Given the description of an element on the screen output the (x, y) to click on. 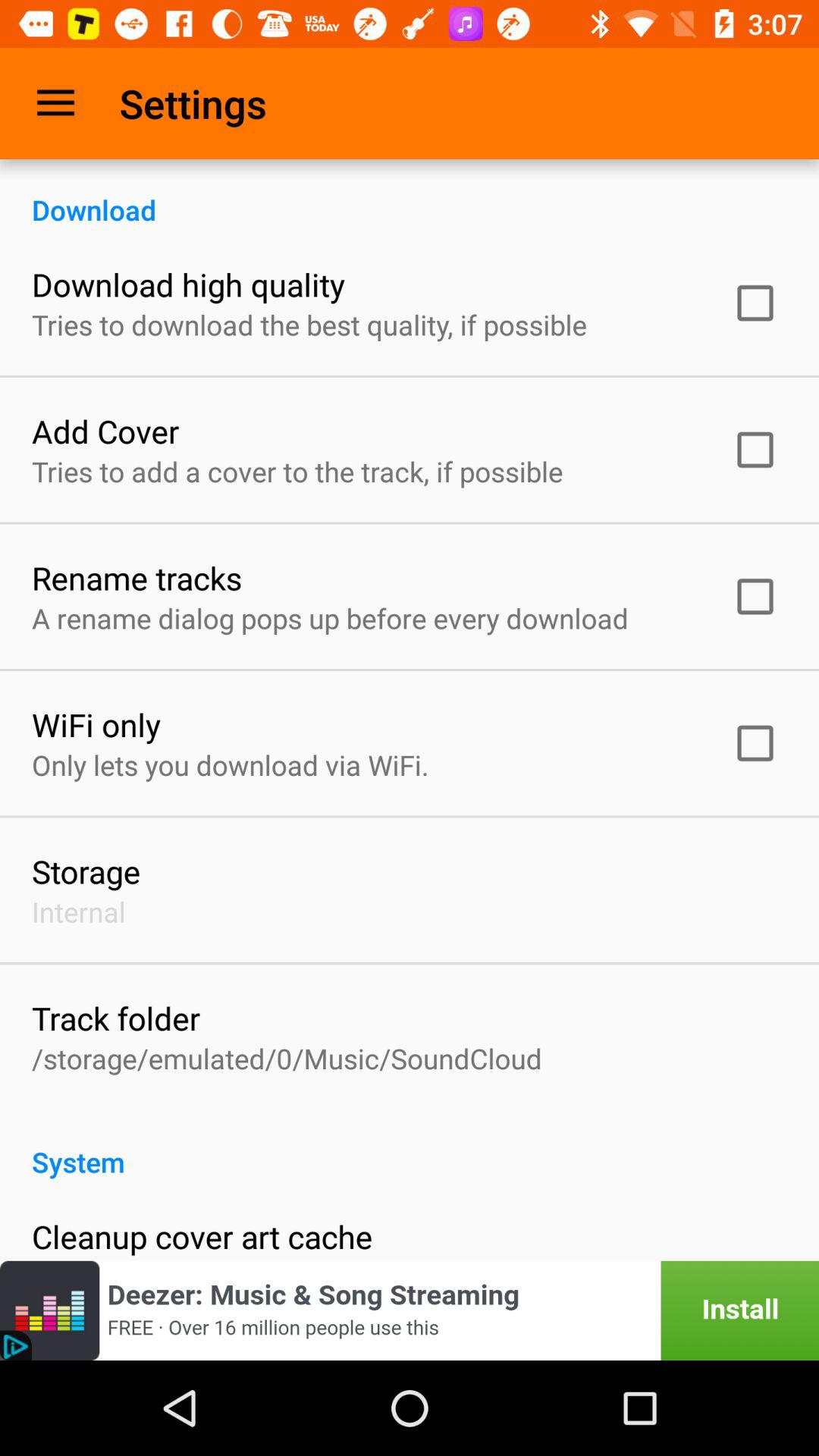
click the item below storage (78, 911)
